Given the description of an element on the screen output the (x, y) to click on. 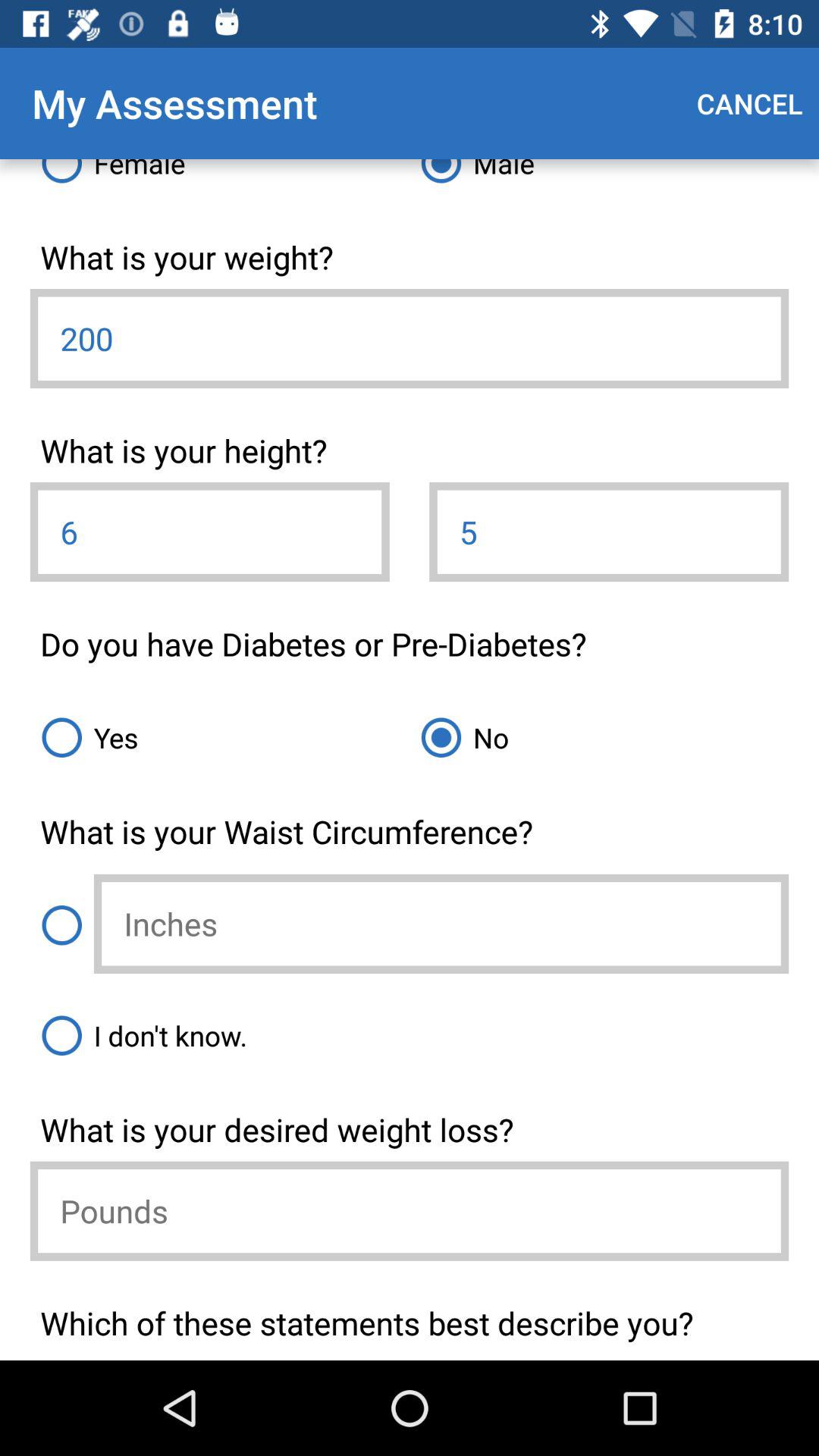
scroll to the cancel icon (749, 103)
